Given the description of an element on the screen output the (x, y) to click on. 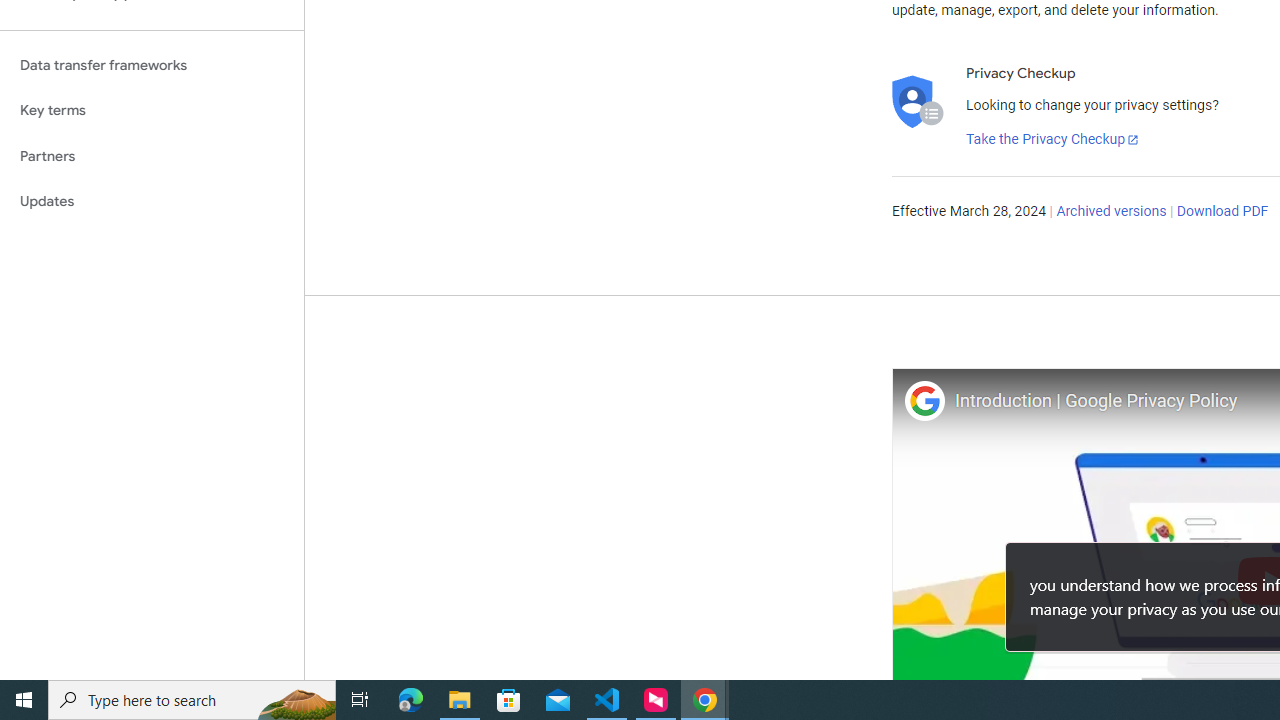
Archived versions (1111, 212)
Take the Privacy Checkup (1053, 140)
Photo image of Google (924, 400)
Download PDF (1222, 212)
